Given the description of an element on the screen output the (x, y) to click on. 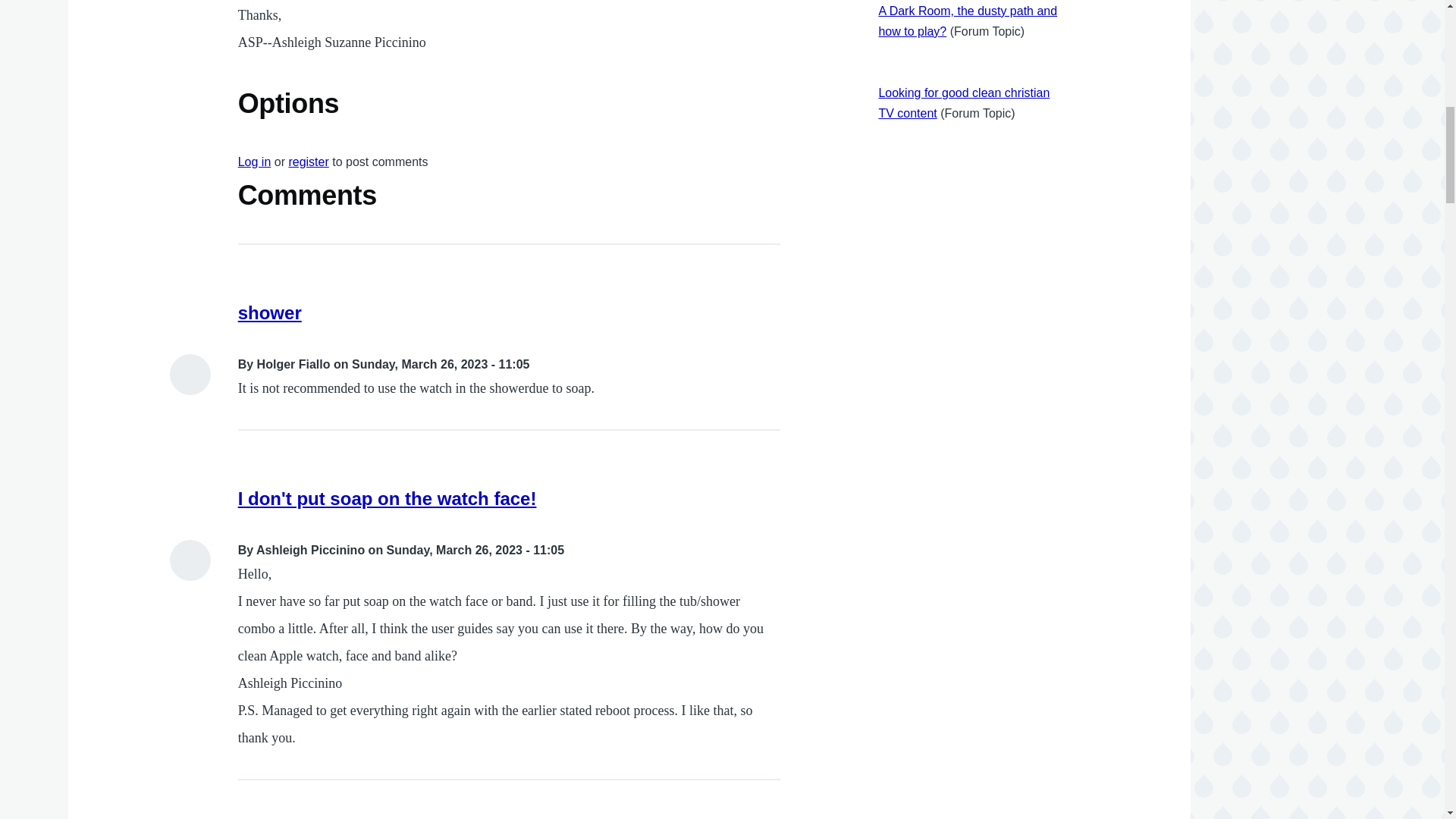
register (308, 161)
I don't put soap on the watch face! (387, 498)
shower (269, 312)
Log in (254, 161)
